Given the description of an element on the screen output the (x, y) to click on. 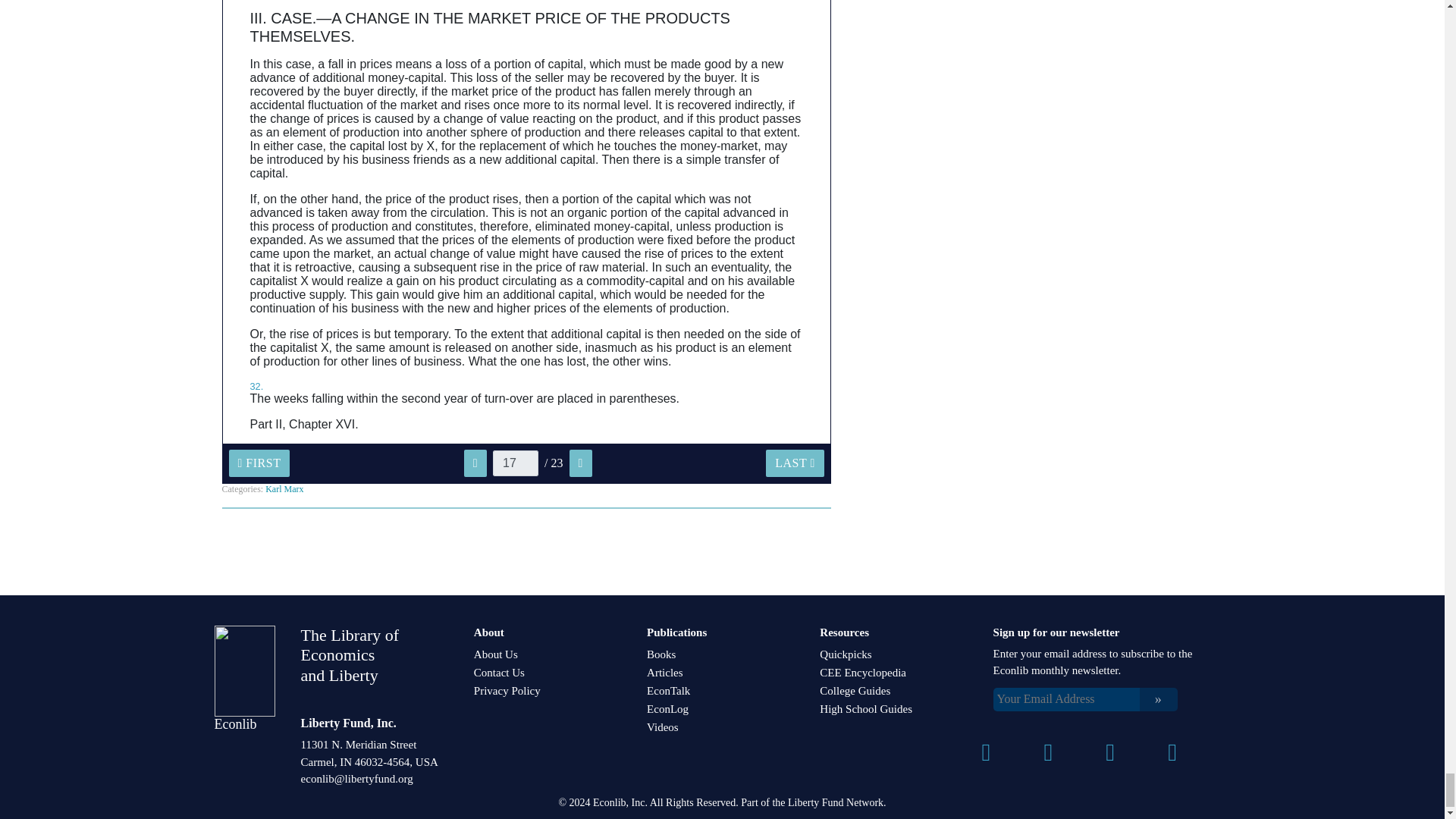
Return to text (256, 386)
17 (515, 462)
